Given the description of an element on the screen output the (x, y) to click on. 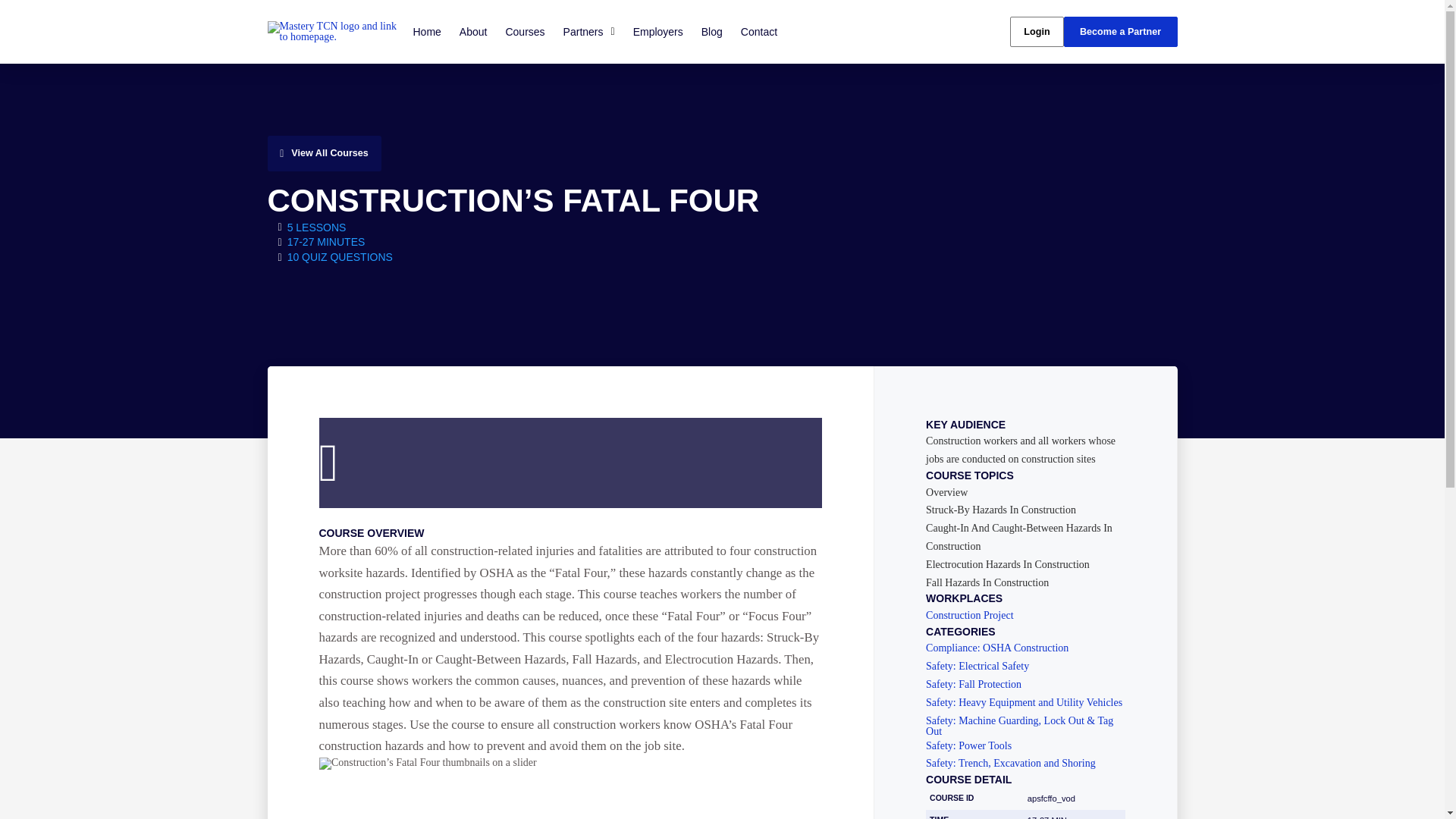
Partners (589, 31)
Become a Partner (1119, 31)
Blog (712, 31)
About (472, 31)
View All Courses (323, 153)
Home (426, 31)
Safety: Heavy Equipment and Utility Vehicles (1025, 702)
Safety: Fall Protection (1025, 684)
Safety: Trench, Excavation and Shoring (1025, 763)
Login (1036, 31)
Compliance: OSHA Construction (1025, 647)
Safety: Electrical Safety (1025, 665)
Construction Project (1025, 615)
Courses (524, 31)
Safety: Power Tools (1025, 745)
